Given the description of an element on the screen output the (x, y) to click on. 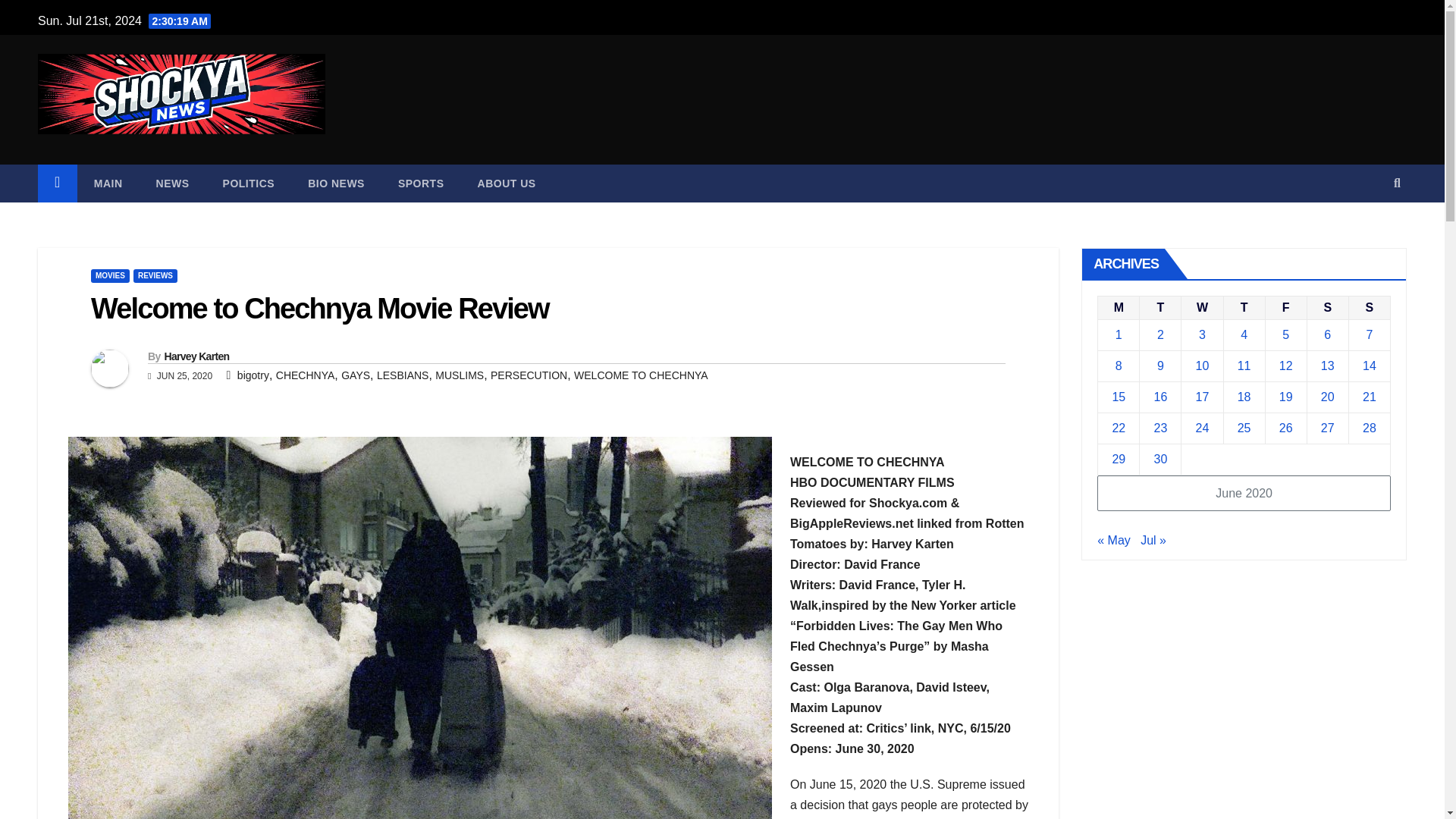
SPORTS (421, 183)
LESBIANS (402, 375)
REVIEWS (155, 275)
ABOUT US (507, 183)
WELCOME TO CHECHNYA (640, 375)
GAYS (354, 375)
bigotry (253, 375)
CHECHNYA (305, 375)
NEWS (172, 183)
Wednesday (1201, 307)
Harvey Karten (195, 356)
MAIN (108, 183)
Thursday (1244, 307)
POLITICS (249, 183)
Tuesday (1160, 307)
